Given the description of an element on the screen output the (x, y) to click on. 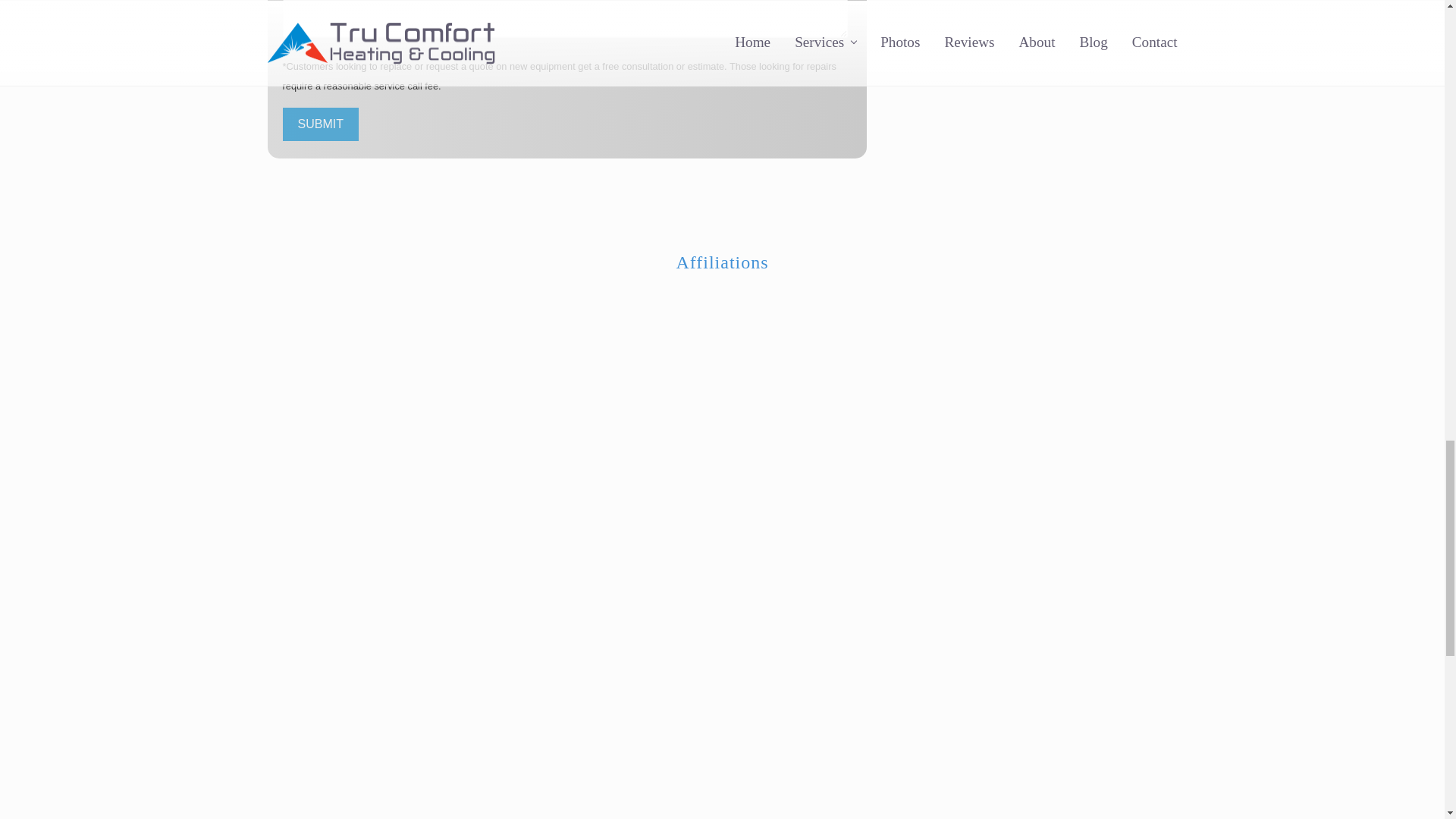
Submit (320, 123)
